Given the description of an element on the screen output the (x, y) to click on. 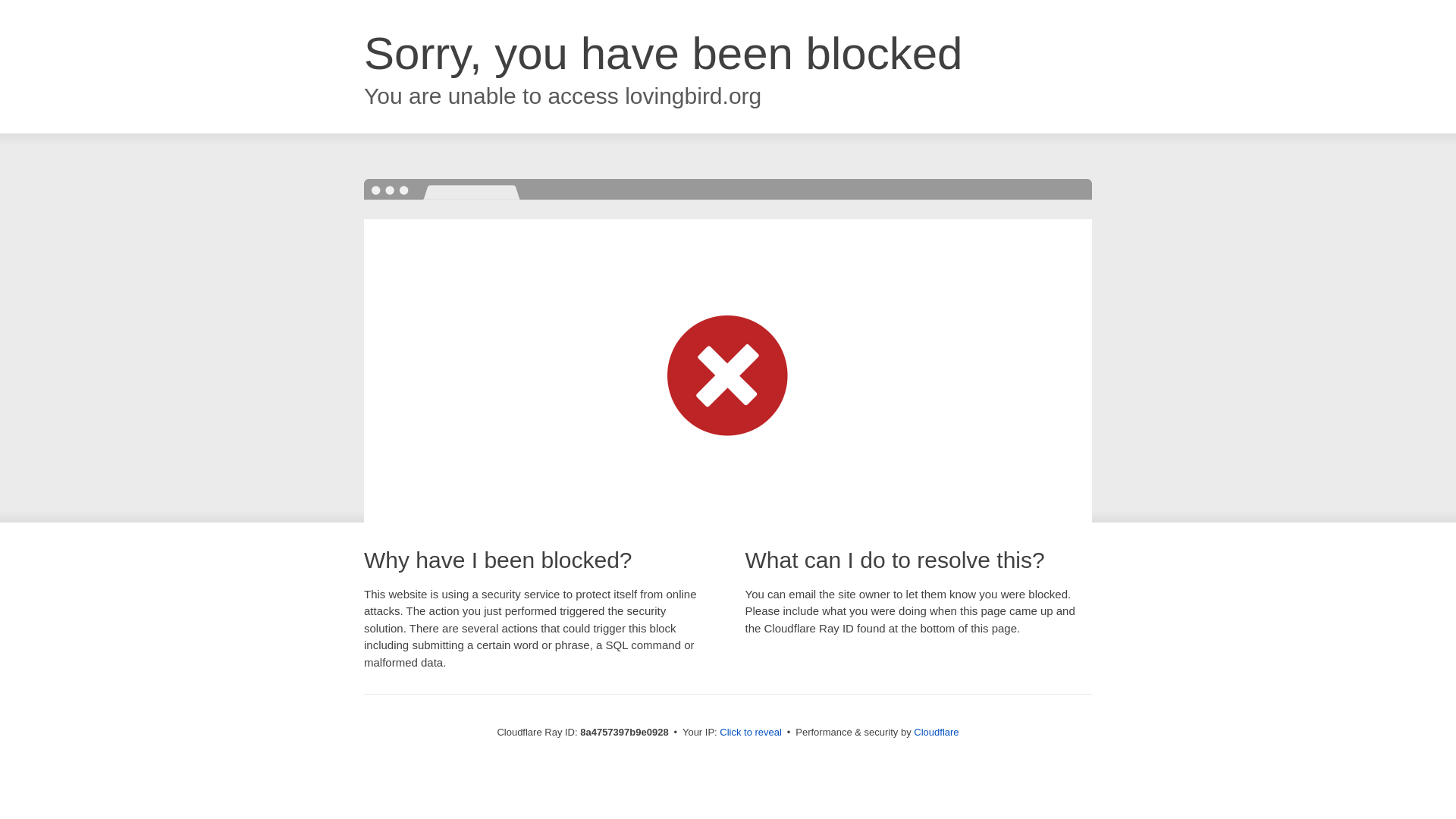
Cloudflare (936, 731)
Click to reveal (750, 732)
